Given the description of an element on the screen output the (x, y) to click on. 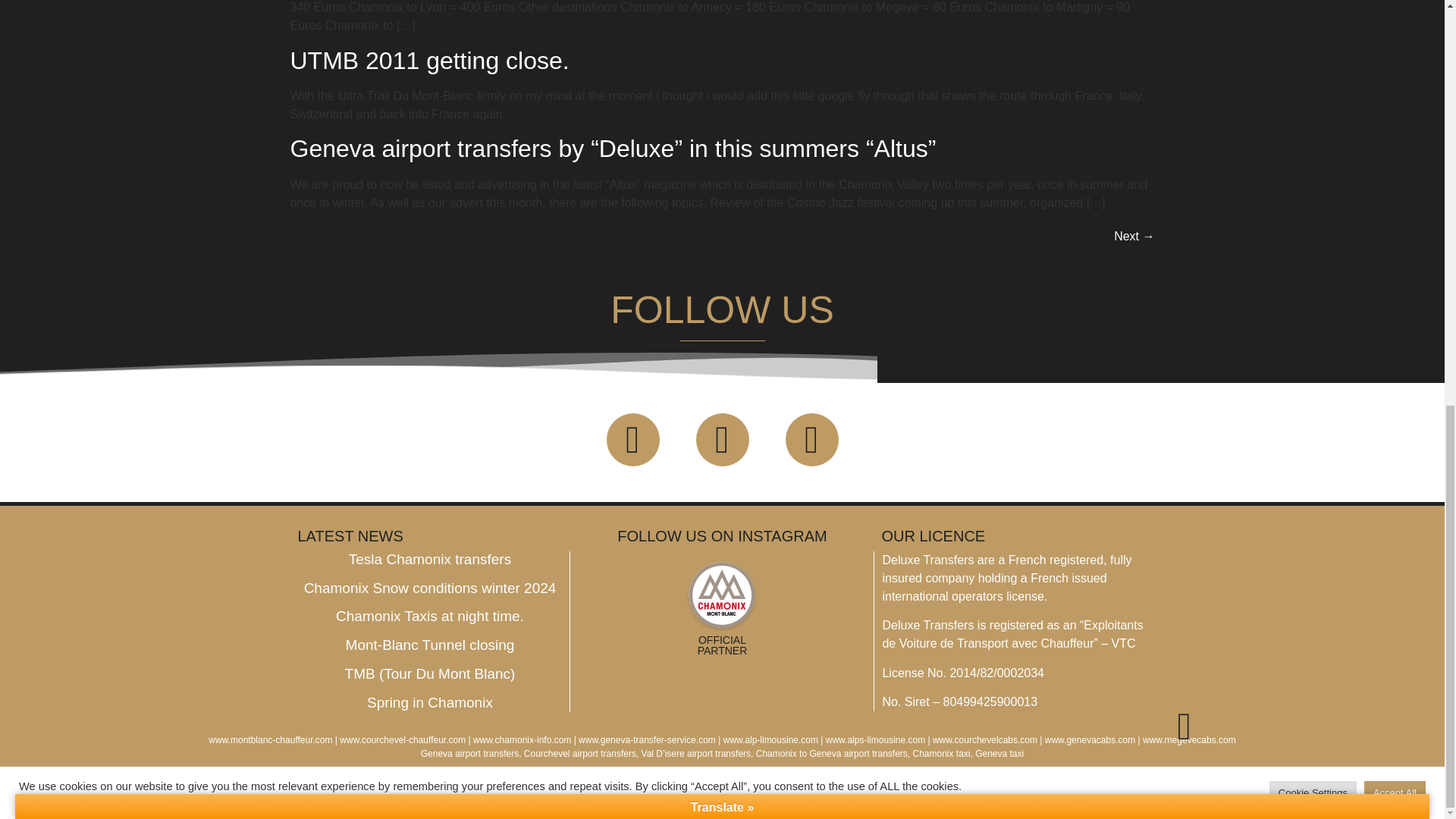
Mont-Blanc Tunnel closing (430, 644)
UTMB 2011 getting close. (429, 60)
Chamonix Taxis at night time. (430, 616)
Tesla Chamonix transfers (430, 559)
Spring in Chamonix (429, 702)
Chamonix Snow conditions winter 2024 (430, 587)
